Given the description of an element on the screen output the (x, y) to click on. 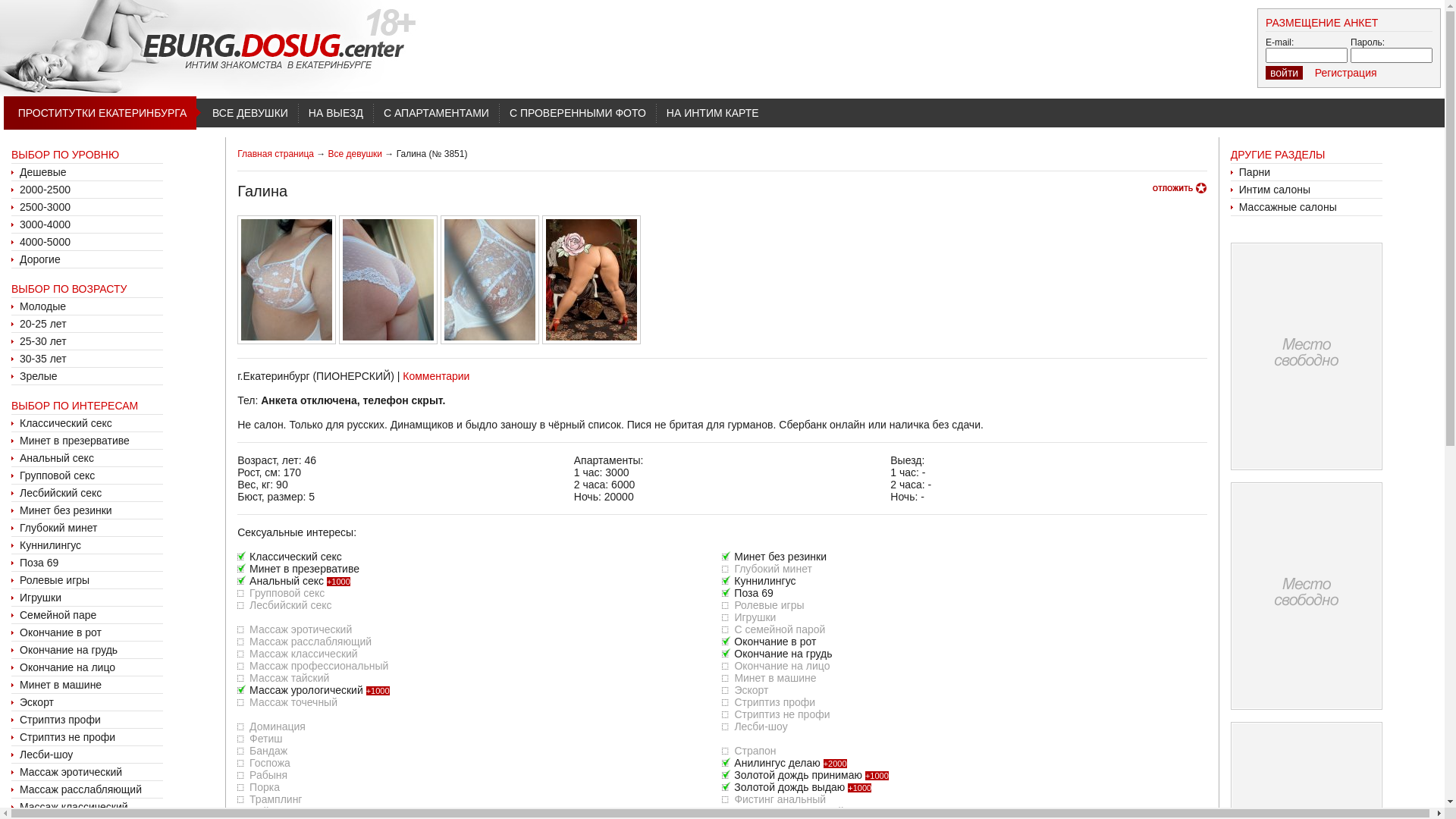
2000-2500 Element type: text (44, 189)
2500-3000 Element type: text (44, 206)
3000-4000 Element type: text (44, 224)
4000-5000 Element type: text (44, 241)
